Given the description of an element on the screen output the (x, y) to click on. 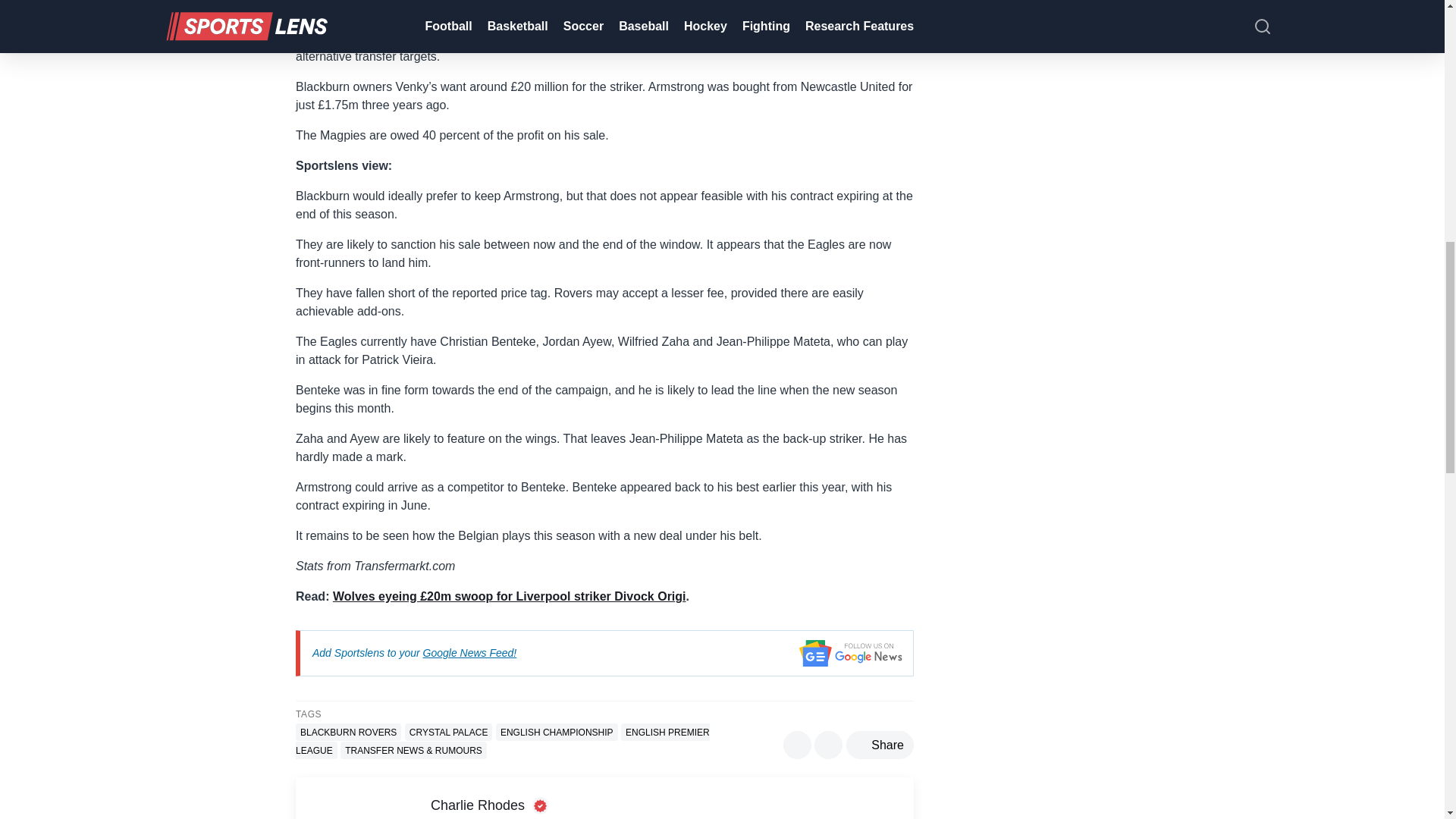
Share (879, 745)
CRYSTAL PALACE (448, 732)
BLACKBURN ROVERS (348, 732)
Google News Feed! (469, 653)
ENGLISH PREMIER LEAGUE (502, 741)
ENGLISH CHAMPIONSHIP (556, 732)
